Given the description of an element on the screen output the (x, y) to click on. 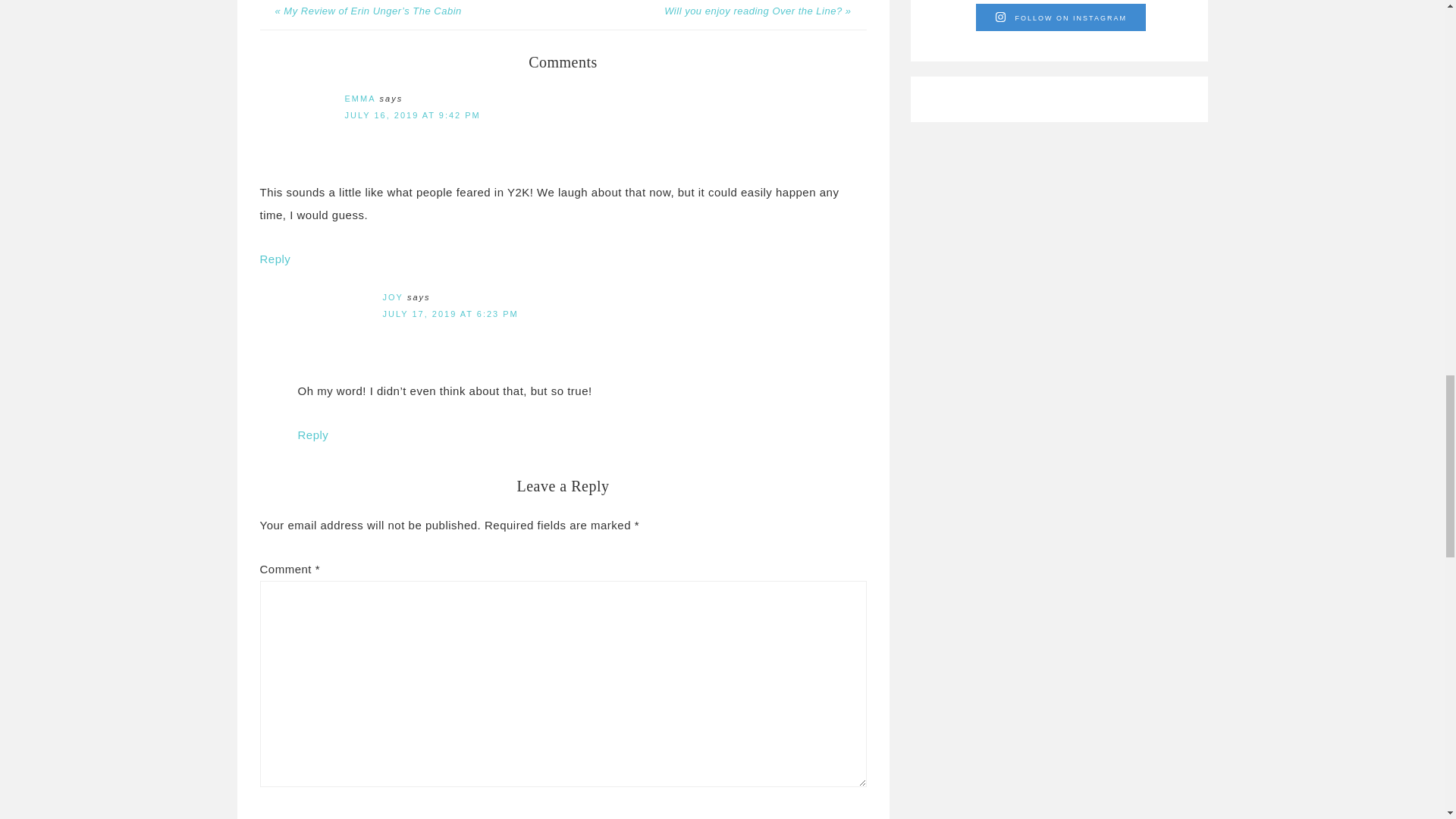
EMMA (359, 98)
